Given the description of an element on the screen output the (x, y) to click on. 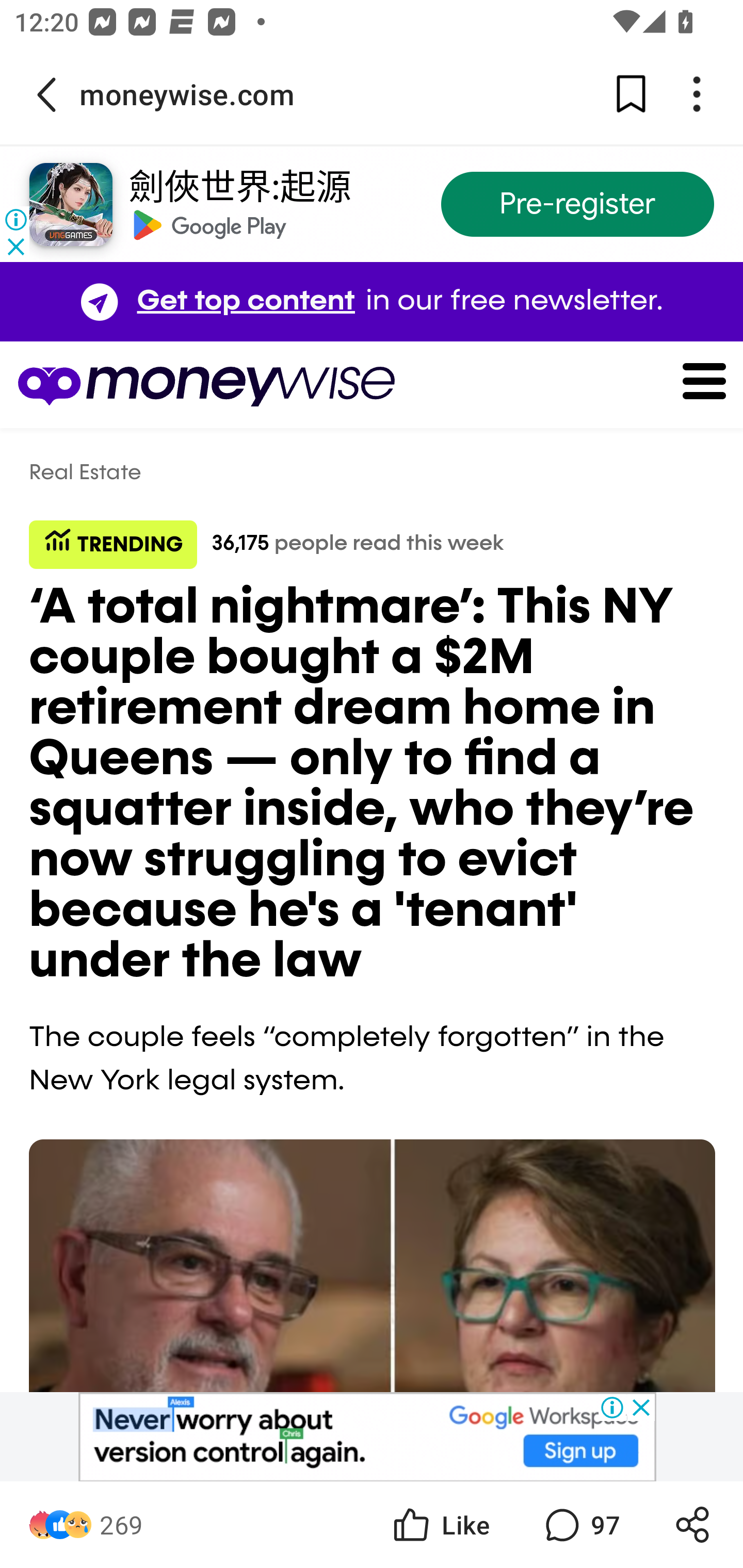
劍俠世界:起源 (239, 187)
Pre-register (577, 205)
Get top content (245, 301)
Go to the Moneywise home page (206, 385)
Open navigation menu (682, 385)
Real Estate (85, 473)
Advertisement (367, 1436)
269 (121, 1524)
Like (439, 1524)
97 (579, 1524)
